Given the description of an element on the screen output the (x, y) to click on. 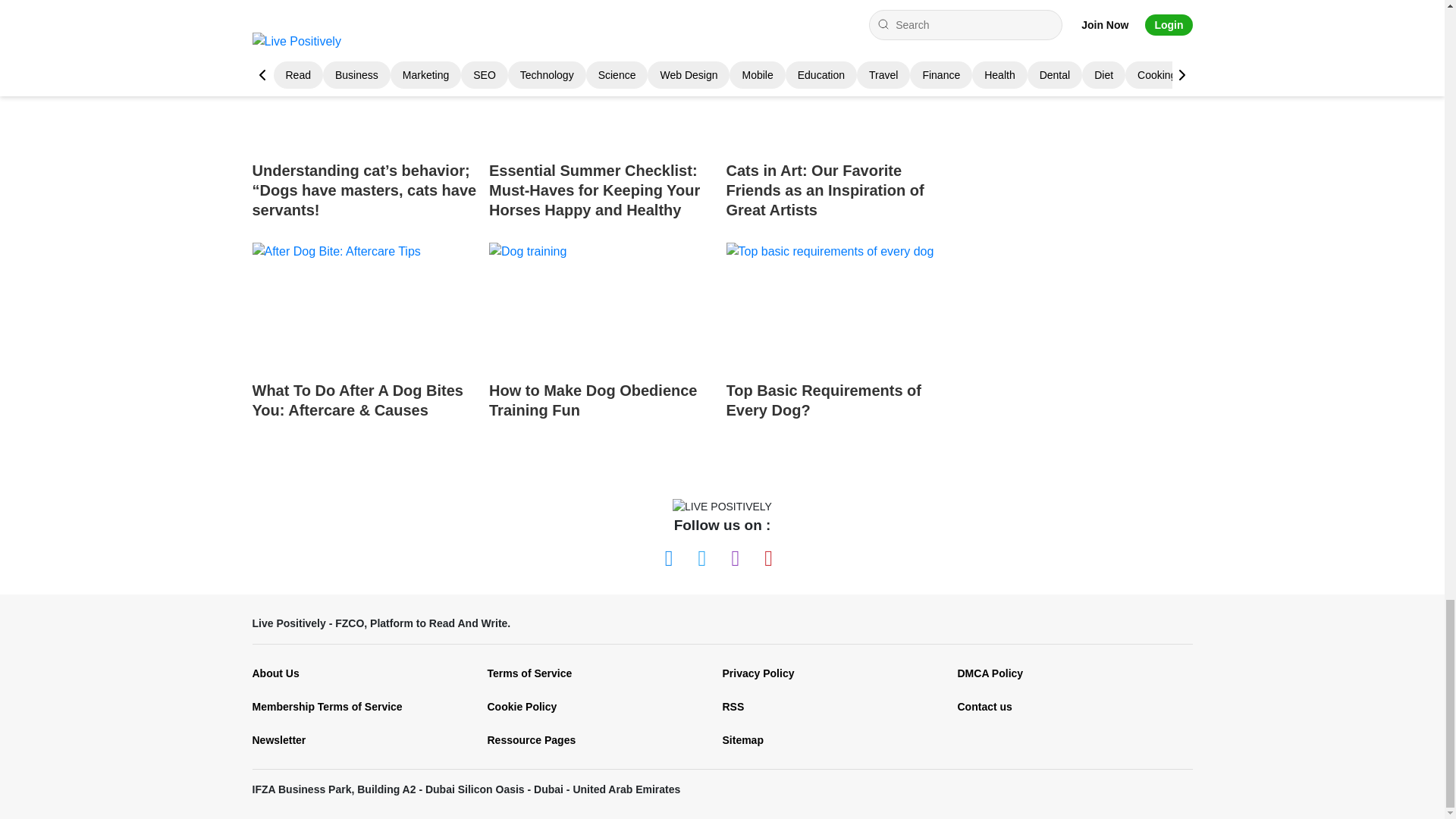
Kasiabehavior of a cat (364, 85)
Top basic requirements of every dog (839, 305)
Horses Happy and Healthy (601, 85)
Dog training (601, 305)
Top Basic Requirements of Every Dog? (839, 344)
How to Make Dog Obedience Training Fun (601, 344)
After Dog Bite: Aftercare Tips (364, 305)
